Given the description of an element on the screen output the (x, y) to click on. 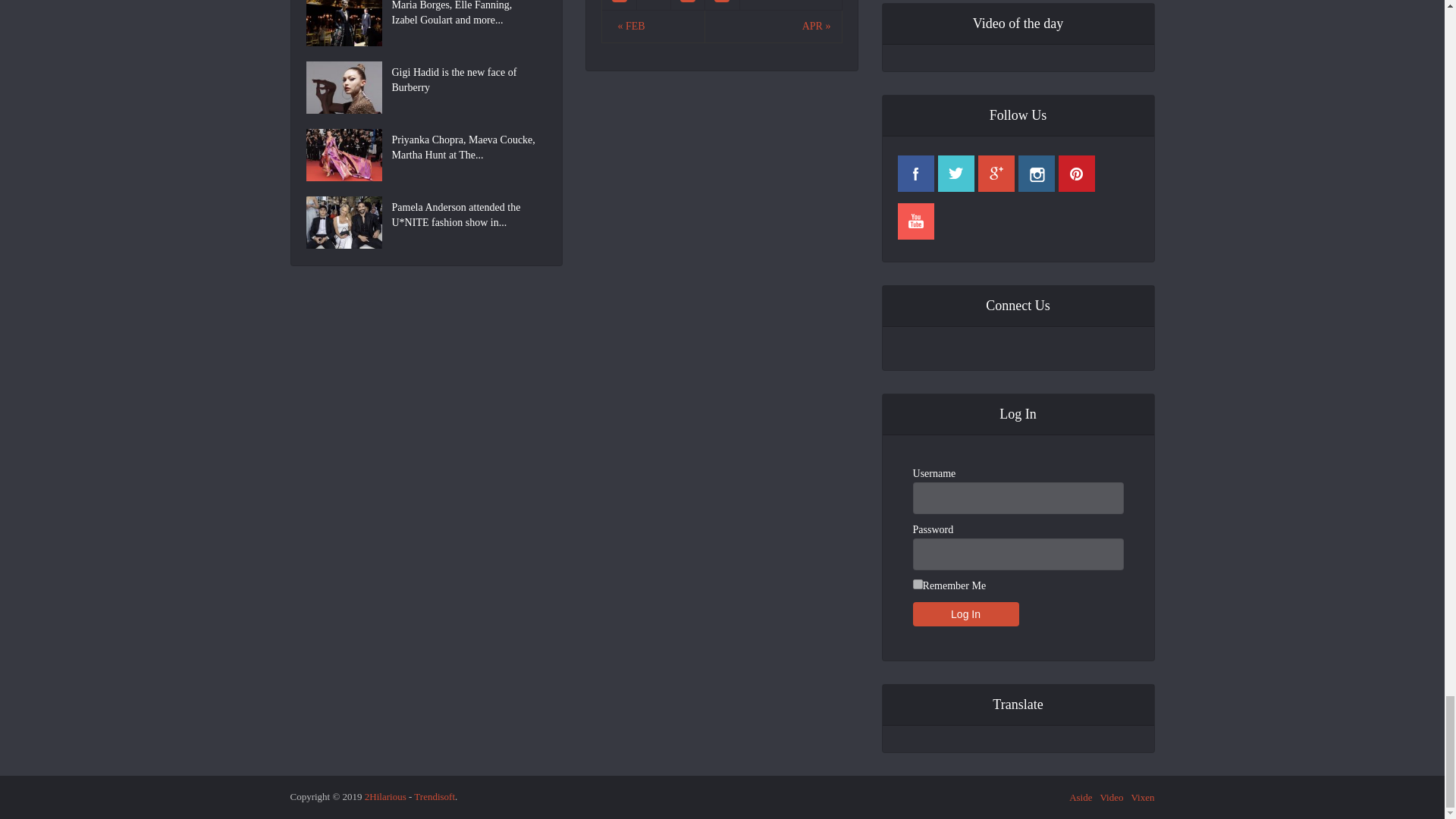
forever (917, 583)
Log In (965, 613)
